Given the description of an element on the screen output the (x, y) to click on. 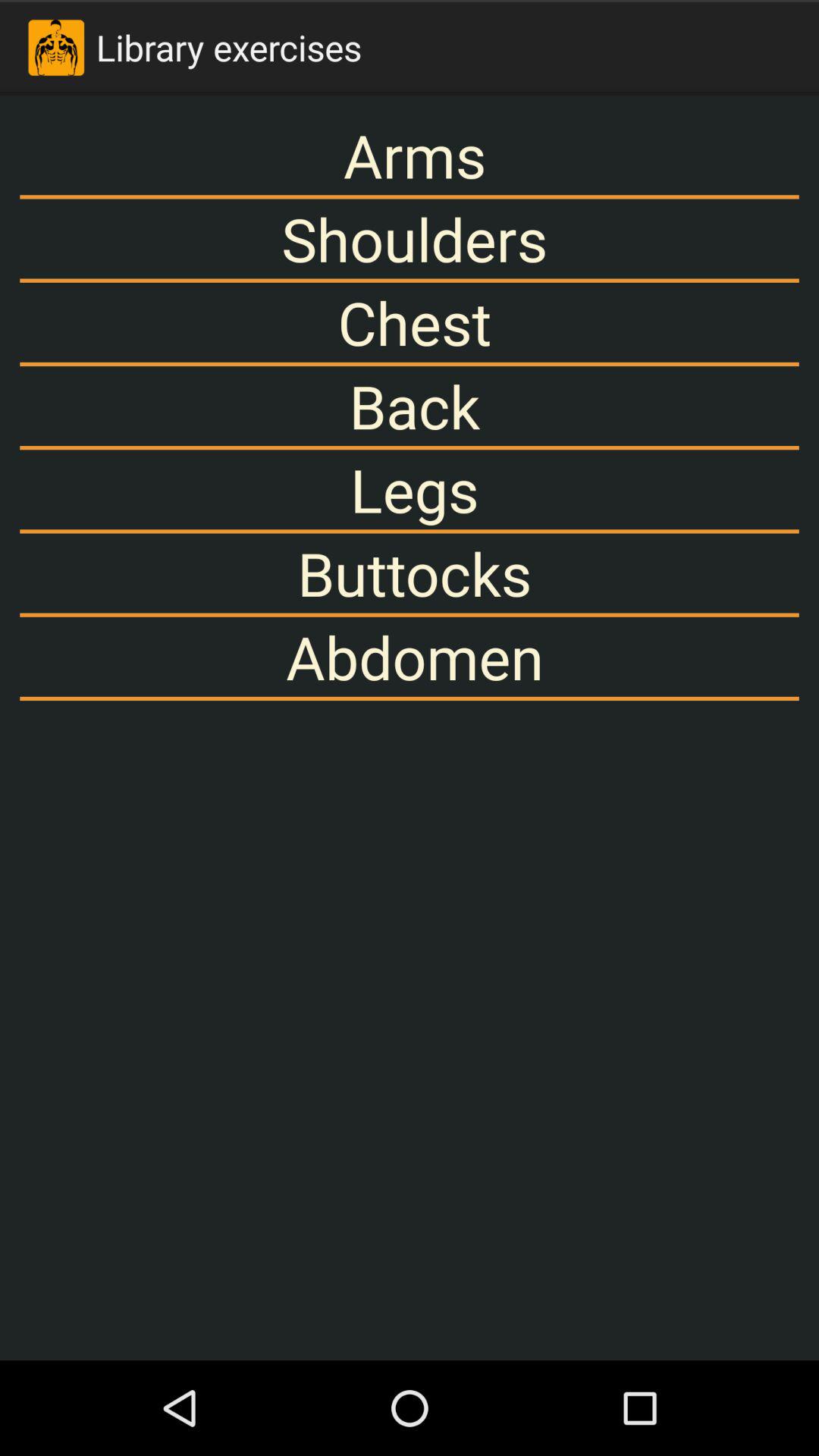
turn on arms (409, 155)
